Given the description of an element on the screen output the (x, y) to click on. 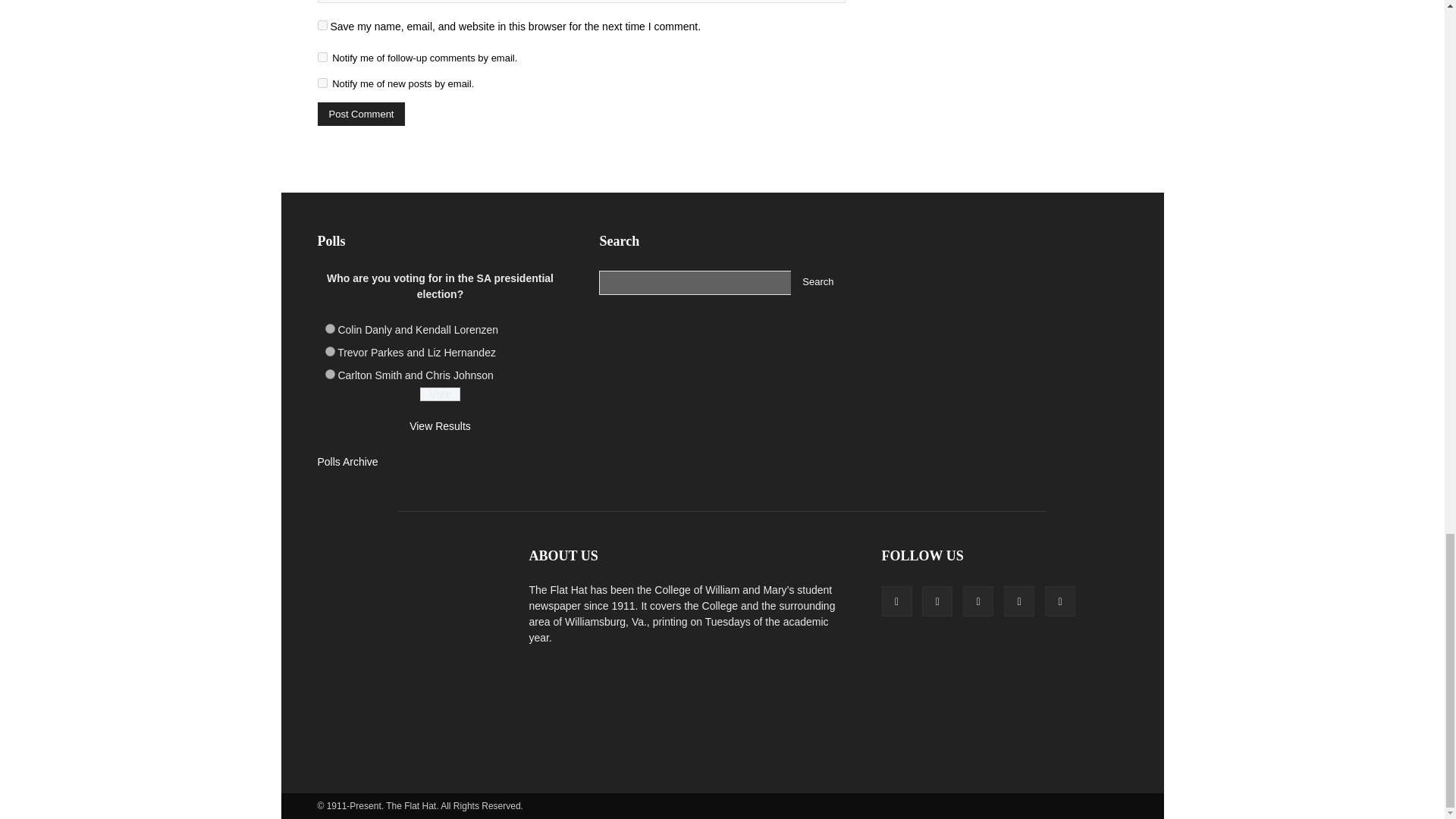
yes (321, 25)
106 (329, 374)
Search (817, 282)
   Vote    (440, 394)
Post Comment (360, 114)
subscribe (321, 57)
subscribe (321, 82)
105 (329, 351)
104 (329, 328)
